Given the description of an element on the screen output the (x, y) to click on. 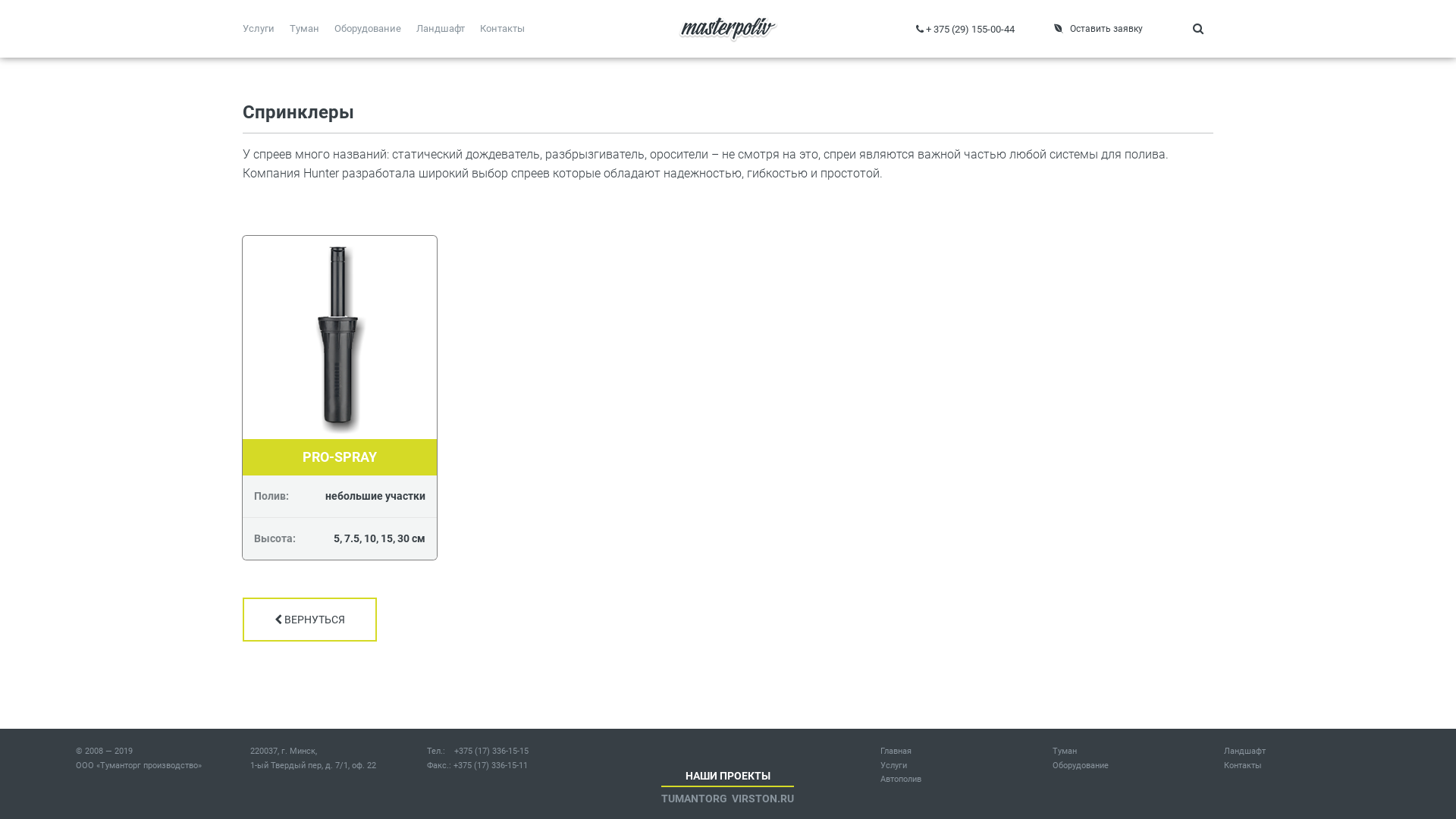
TUMANTORG Element type: text (694, 798)
VIRSTON.RU Element type: text (762, 798)
